Given the description of an element on the screen output the (x, y) to click on. 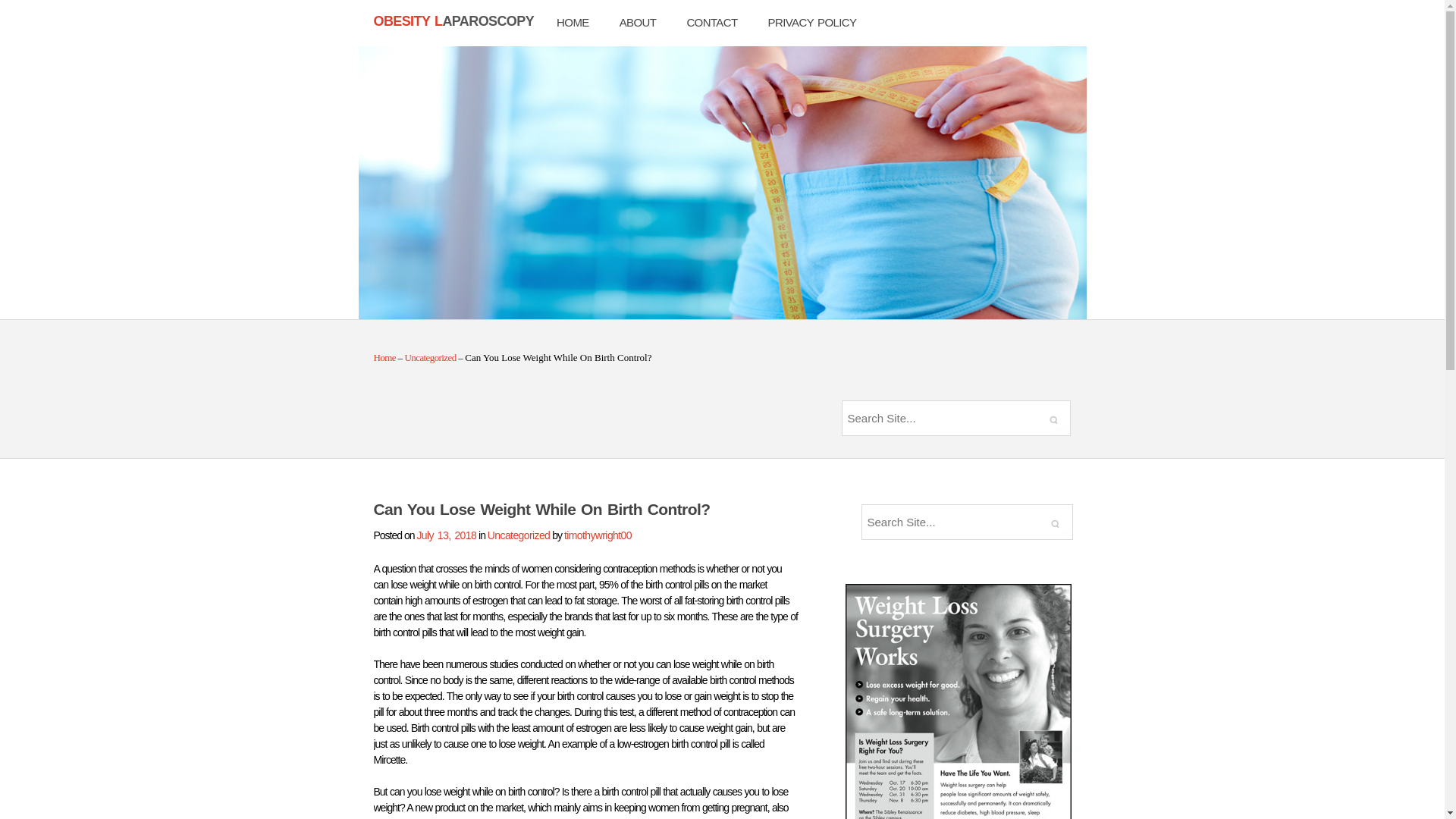
HOME (572, 22)
OBESITY LAPAROSCOPY (453, 20)
Uncategorized (430, 357)
CONTACT (711, 22)
PRIVACY POLICY (812, 22)
Posts by timothywright00 (597, 535)
timothywright00 (597, 535)
Home (383, 357)
ABOUT (638, 22)
Uncategorized (518, 535)
